Given the description of an element on the screen output the (x, y) to click on. 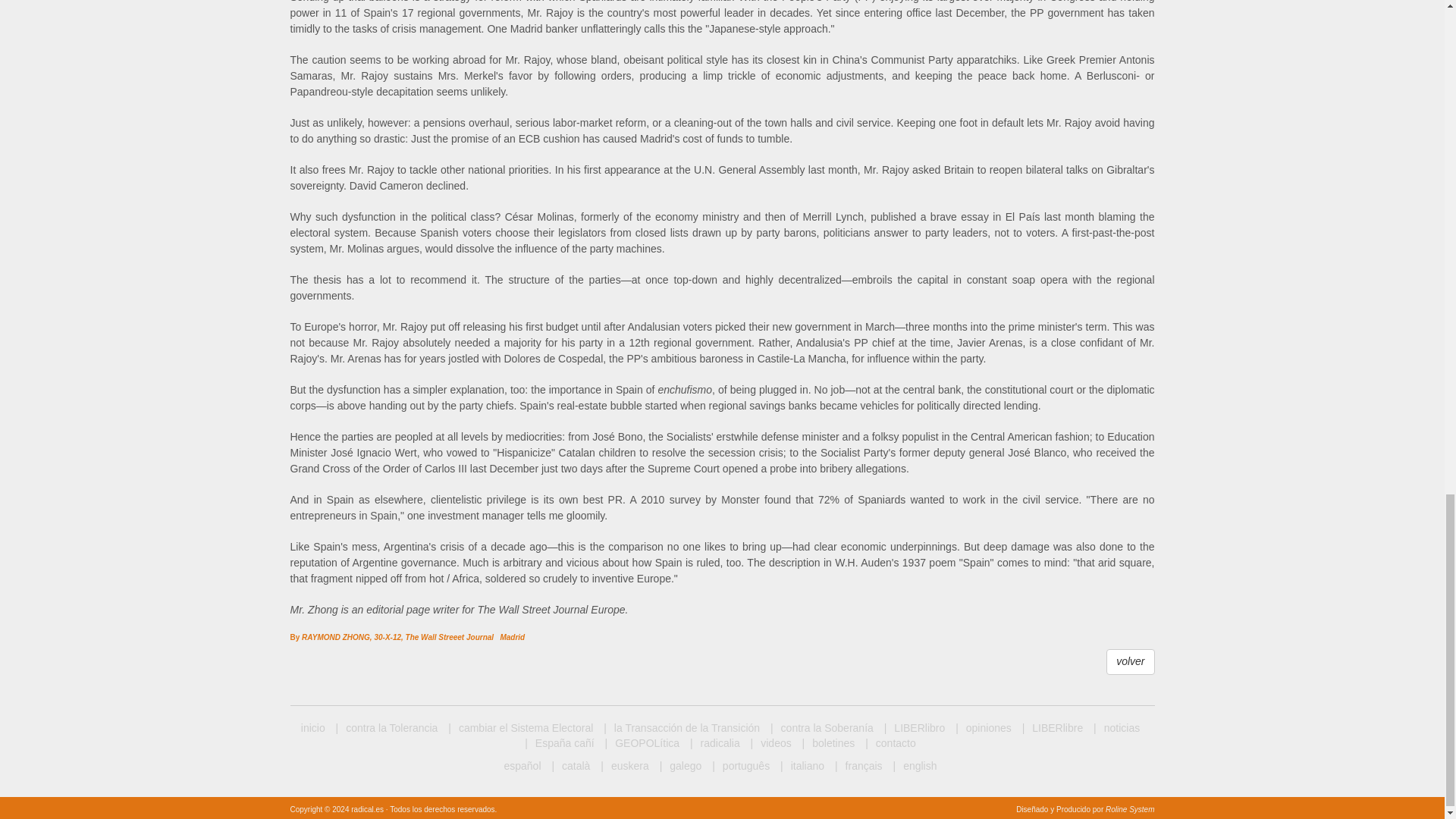
euskal (623, 766)
contra la Tolerancia (387, 728)
galego (680, 766)
RADICAL (312, 728)
english (915, 766)
RAYMOND ZHONG, 30-X-12, The Wall Streeet Journal (398, 633)
volver (1130, 661)
italiano (802, 766)
inicio (312, 728)
contacto (889, 743)
